Given the description of an element on the screen output the (x, y) to click on. 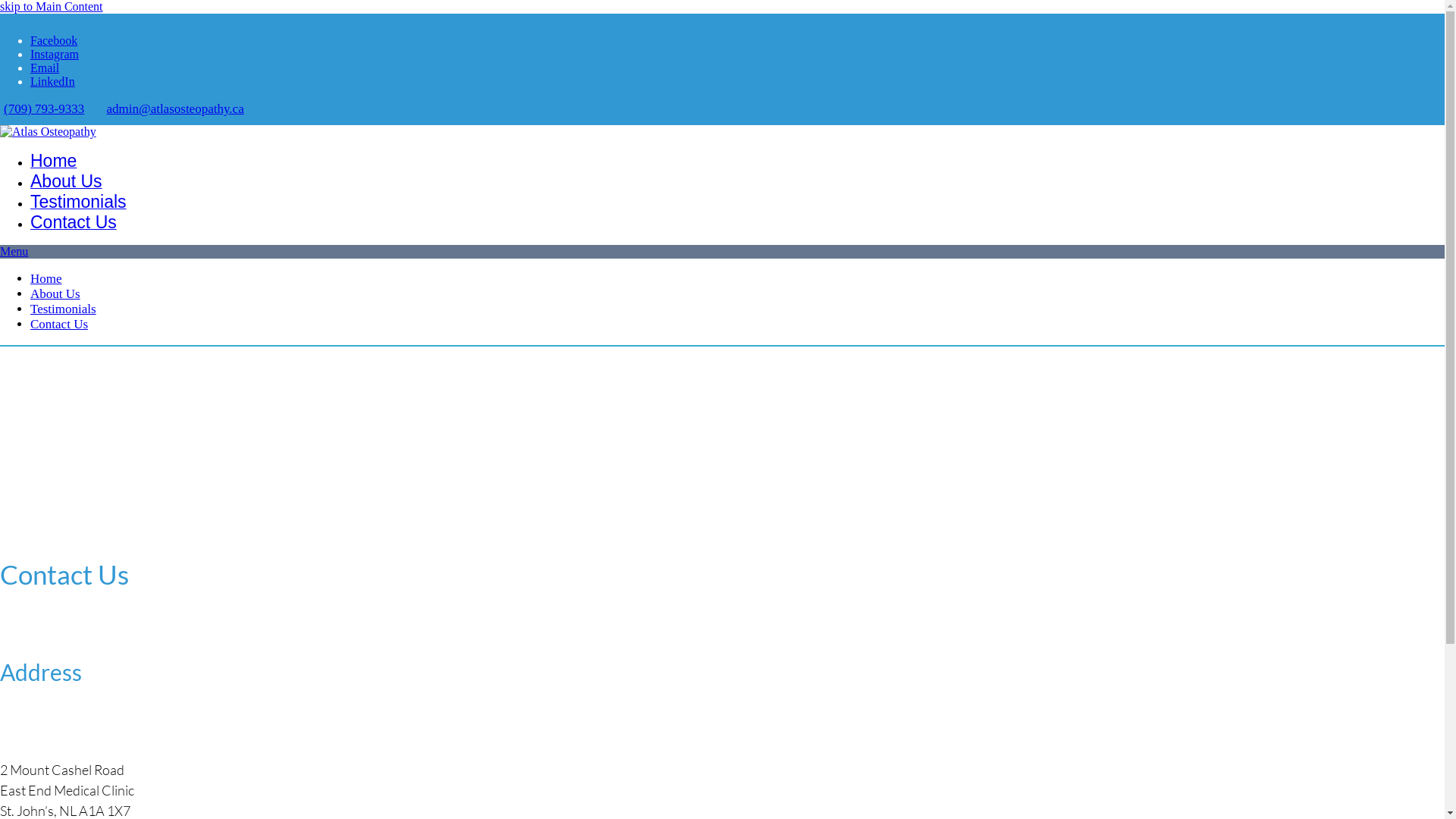
Facebook Element type: text (53, 40)
Menu Element type: text (14, 250)
Testimonials Element type: text (63, 308)
Testimonials Element type: text (78, 203)
Contact Us Element type: text (58, 323)
Email Element type: text (44, 67)
(709) 793-9333 Element type: text (43, 108)
Contact Us Element type: text (73, 223)
skip to Main Content Element type: text (51, 6)
LinkedIn Element type: text (52, 81)
About Us Element type: text (55, 293)
Home Element type: text (53, 162)
About Us Element type: text (66, 182)
Instagram Element type: text (54, 53)
admin@atlasosteopathy.ca Element type: text (174, 108)
Home Element type: text (46, 278)
